Given the description of an element on the screen output the (x, y) to click on. 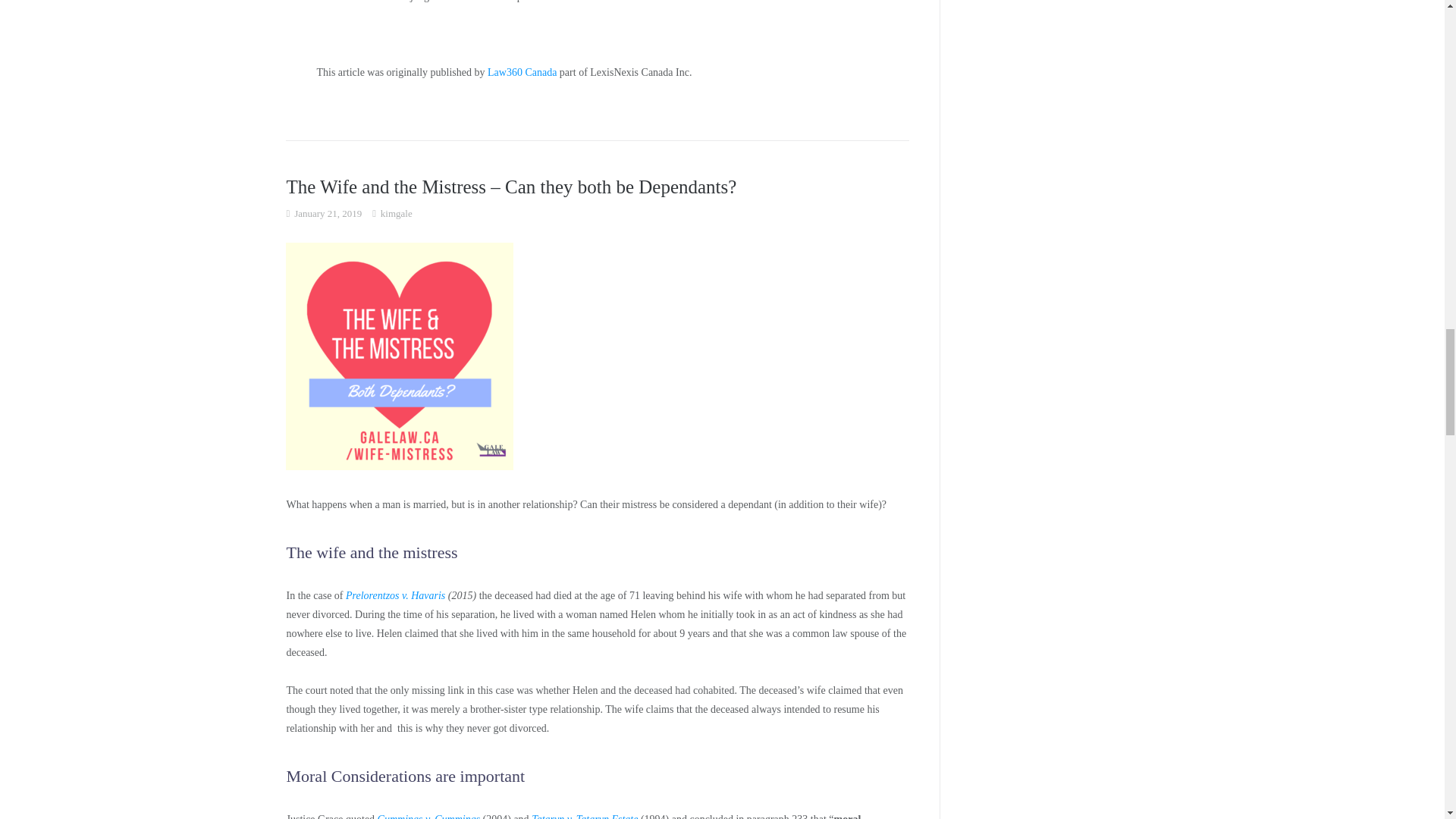
kimgale (396, 212)
Prelorentzos v. Havaris (395, 595)
Tataryn v. Tataryn Estate (585, 816)
Law360 Canada (521, 71)
Cummings v. Cummings (428, 816)
January 21, 2019 (327, 212)
